Given the description of an element on the screen output the (x, y) to click on. 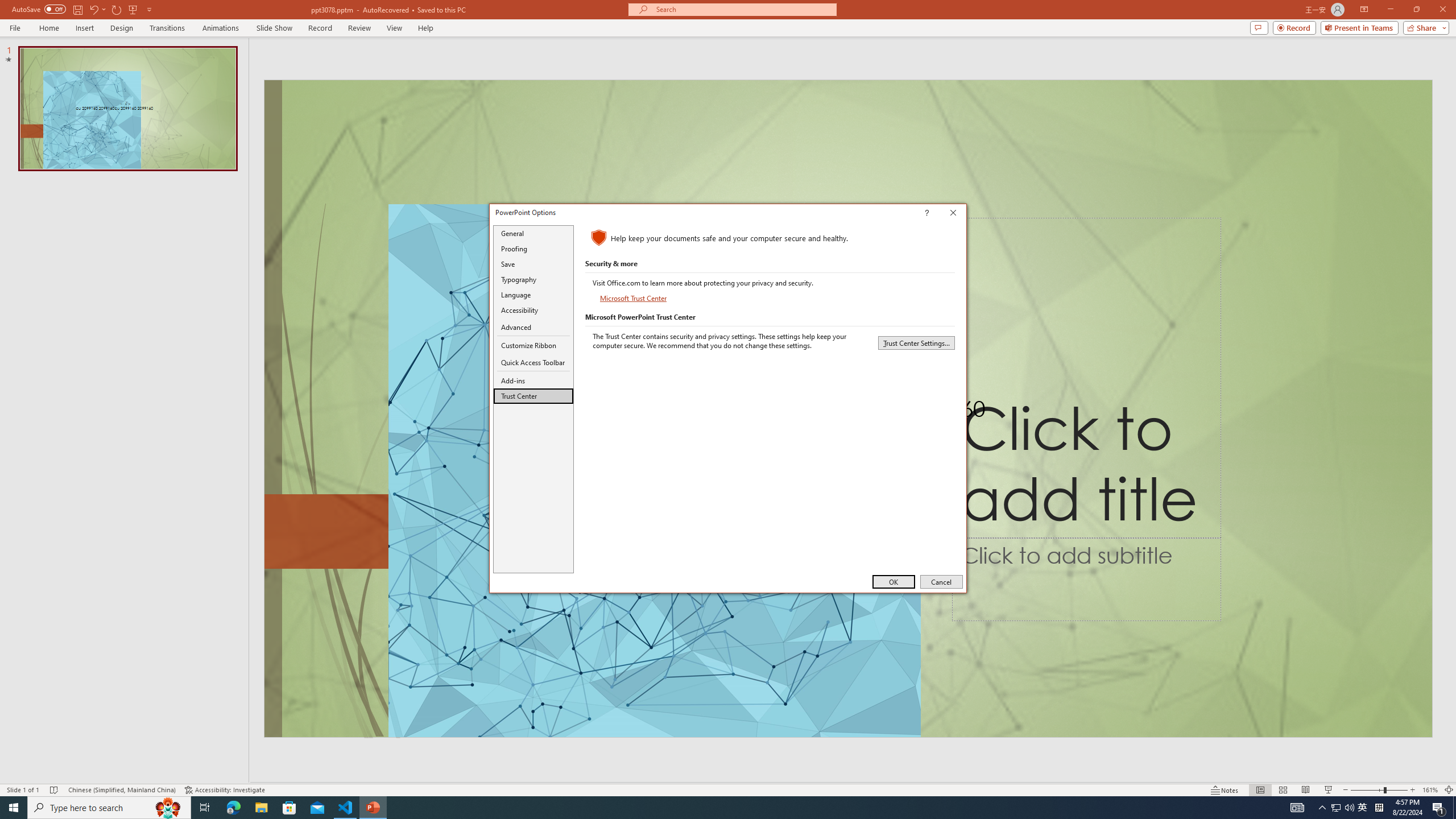
Customize Ribbon (533, 344)
Cancel (941, 581)
OK (893, 581)
